Given the description of an element on the screen output the (x, y) to click on. 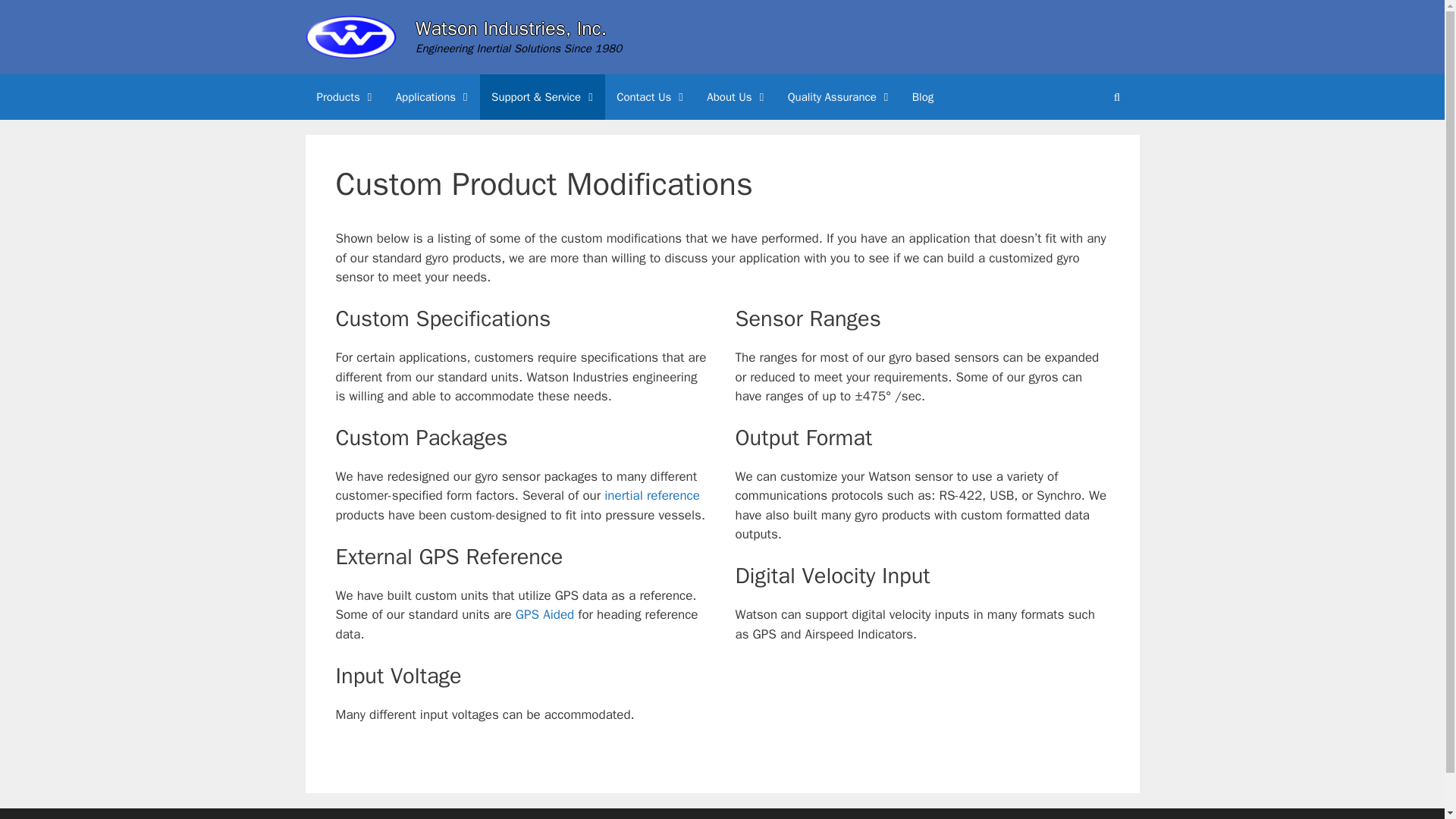
Applications (432, 96)
Contact Us (650, 96)
About Us (735, 96)
Products (344, 96)
Quality Assurance (838, 96)
Watson Industries, Inc. (510, 28)
